Given the description of an element on the screen output the (x, y) to click on. 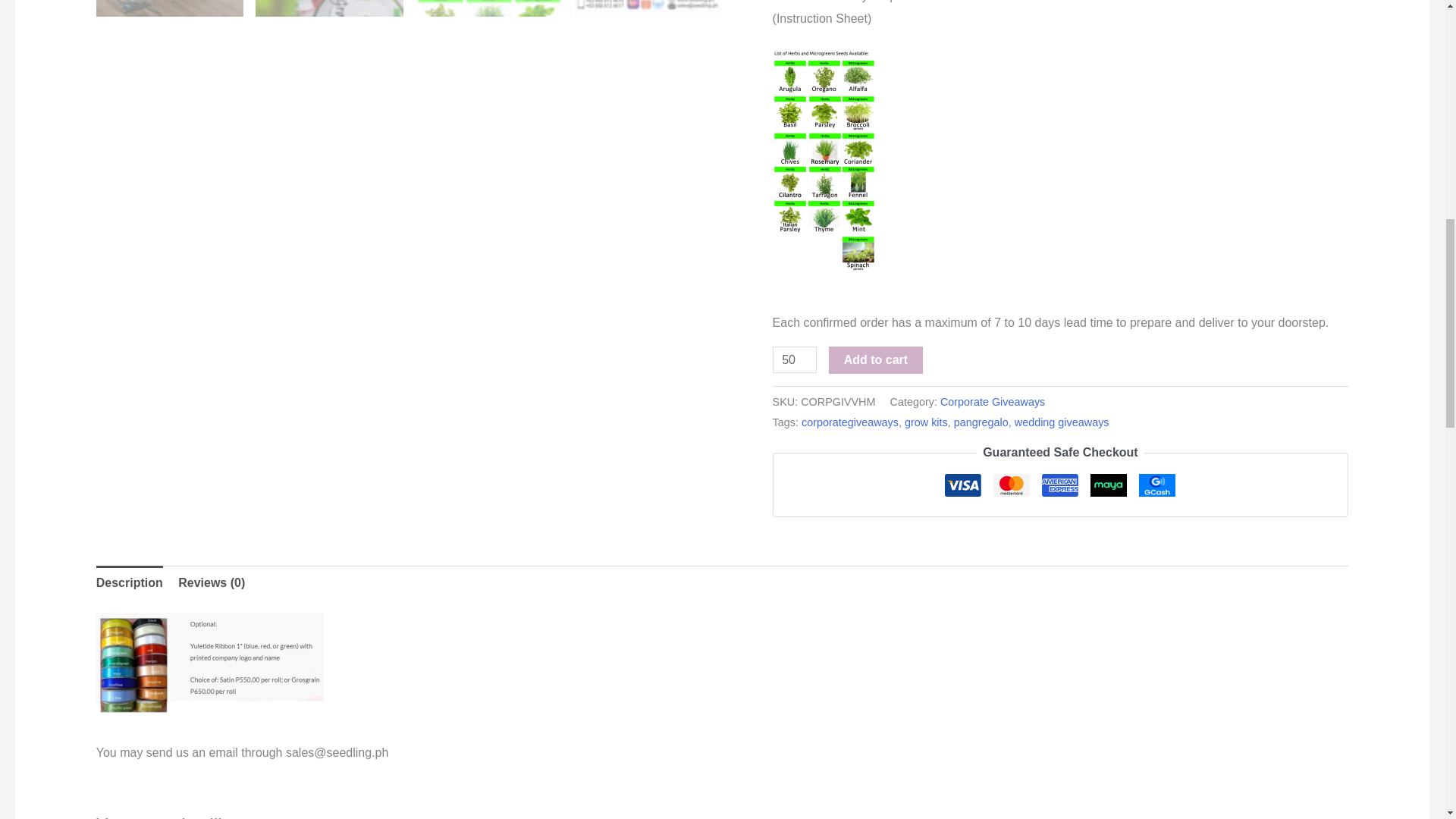
50 (794, 359)
